Given the description of an element on the screen output the (x, y) to click on. 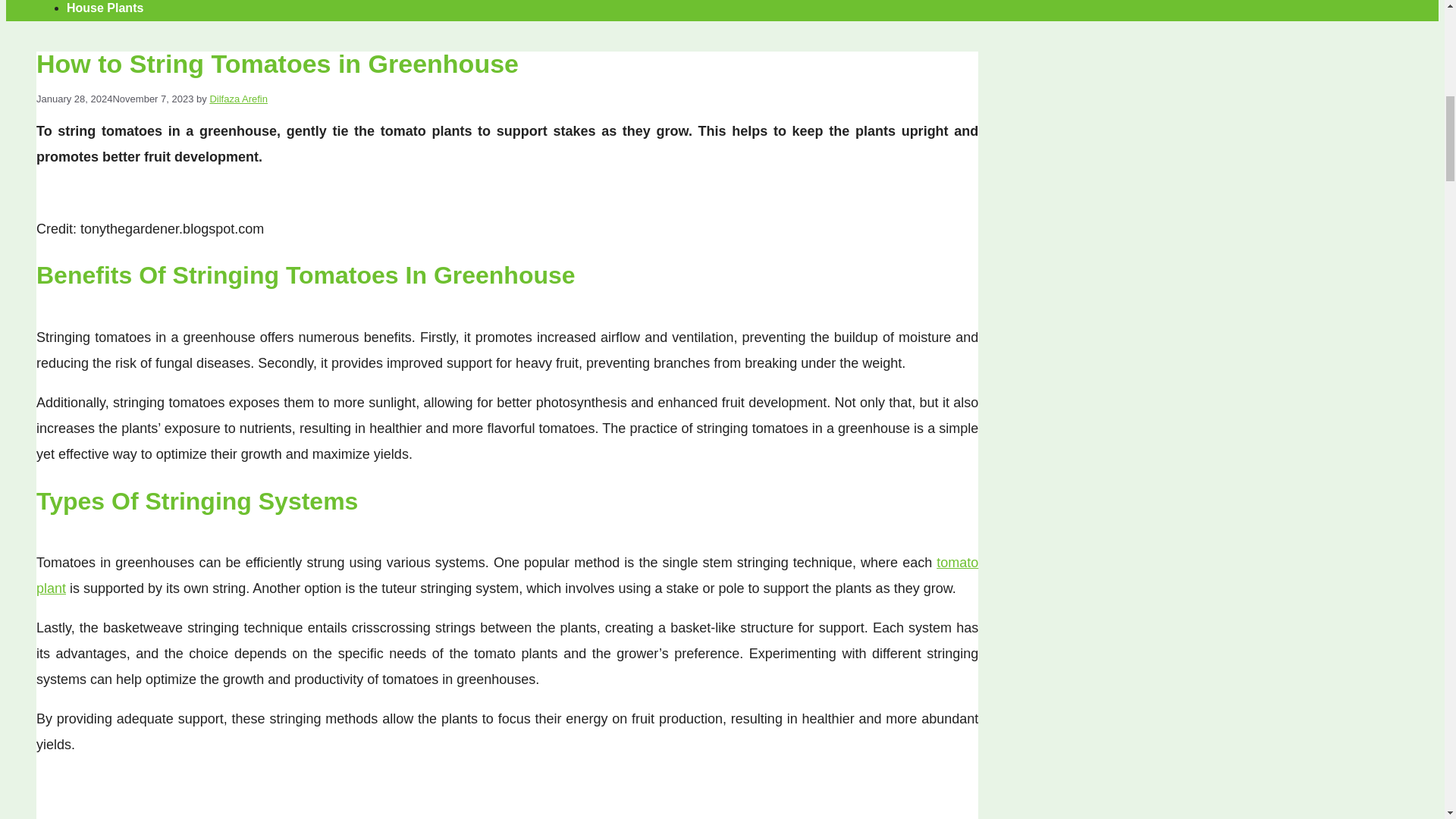
tomato plant (507, 575)
Scroll back to top (1406, 720)
House Plants (104, 7)
View all posts by Dilfaza Arefin (238, 98)
Dilfaza Arefin (238, 98)
